Given the description of an element on the screen output the (x, y) to click on. 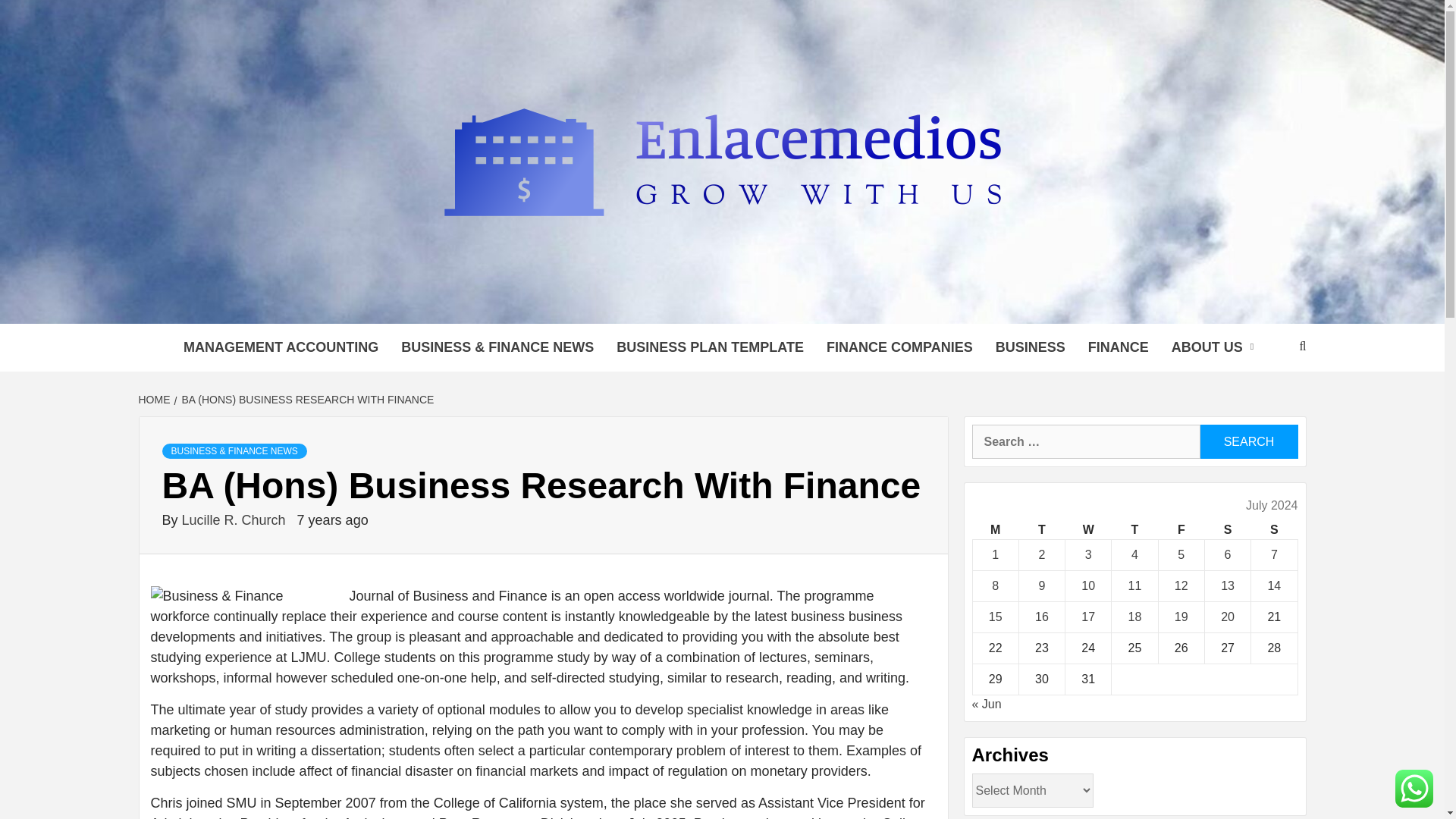
Thursday (1134, 529)
MANAGEMENT ACCOUNTING (280, 347)
BUSINESS (1030, 347)
Monday (994, 529)
Lucille R. Church (235, 519)
Search (1248, 441)
Sunday (1273, 529)
Tuesday (1040, 529)
BUSINESS PLAN TEMPLATE (710, 347)
Friday (1180, 529)
10 (1087, 585)
HOME (155, 399)
ABOUT US (1216, 347)
Search (1248, 441)
FINANCE (1118, 347)
